Given the description of an element on the screen output the (x, y) to click on. 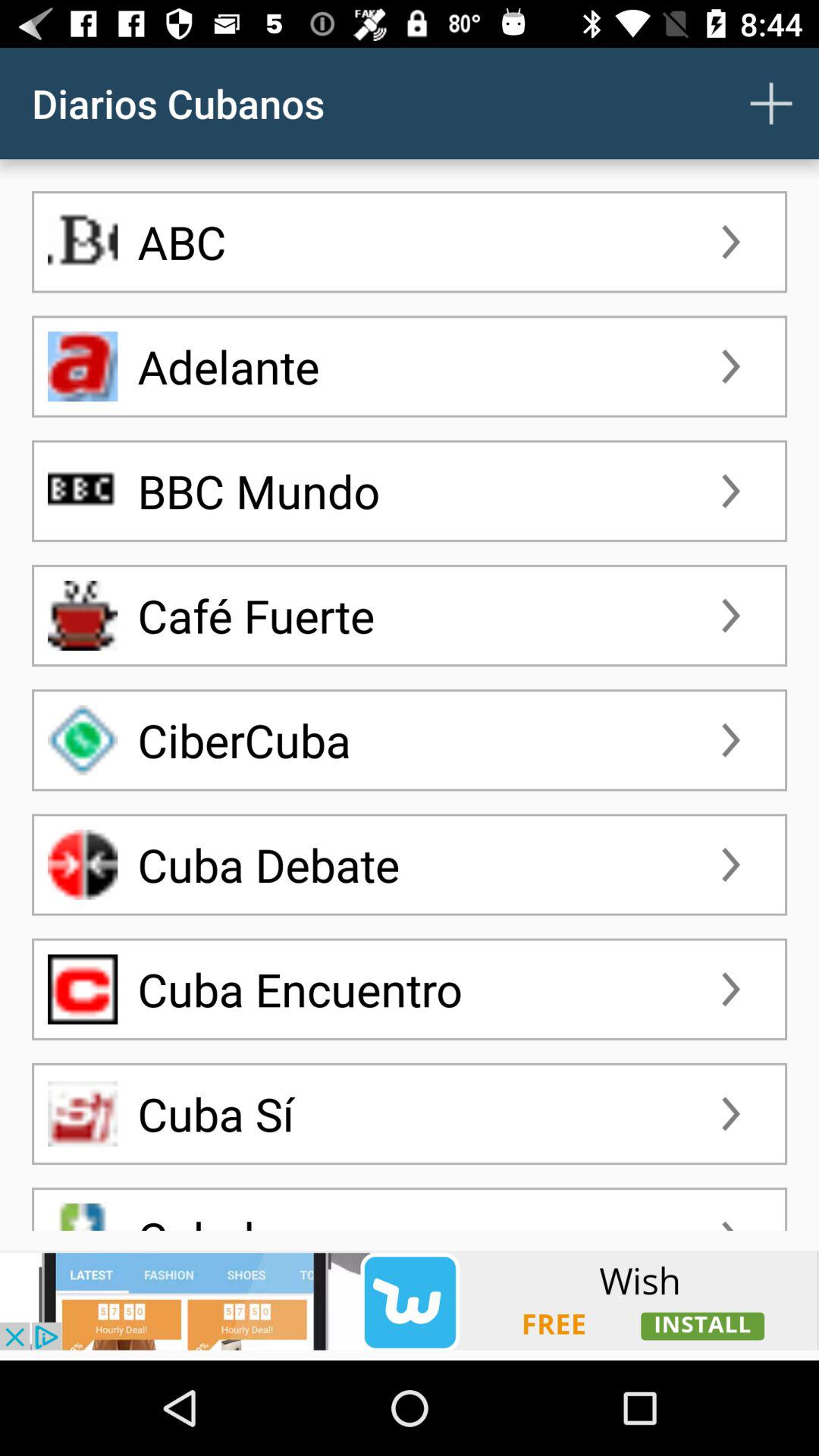
select the next icon which is right to the text adelante (731, 366)
click on the right arrow icon which is right to the cuba si (731, 1113)
click on cibercuba icon (82, 739)
click on sixth arrow icon (731, 864)
click on the adelante icon (82, 366)
